Given the description of an element on the screen output the (x, y) to click on. 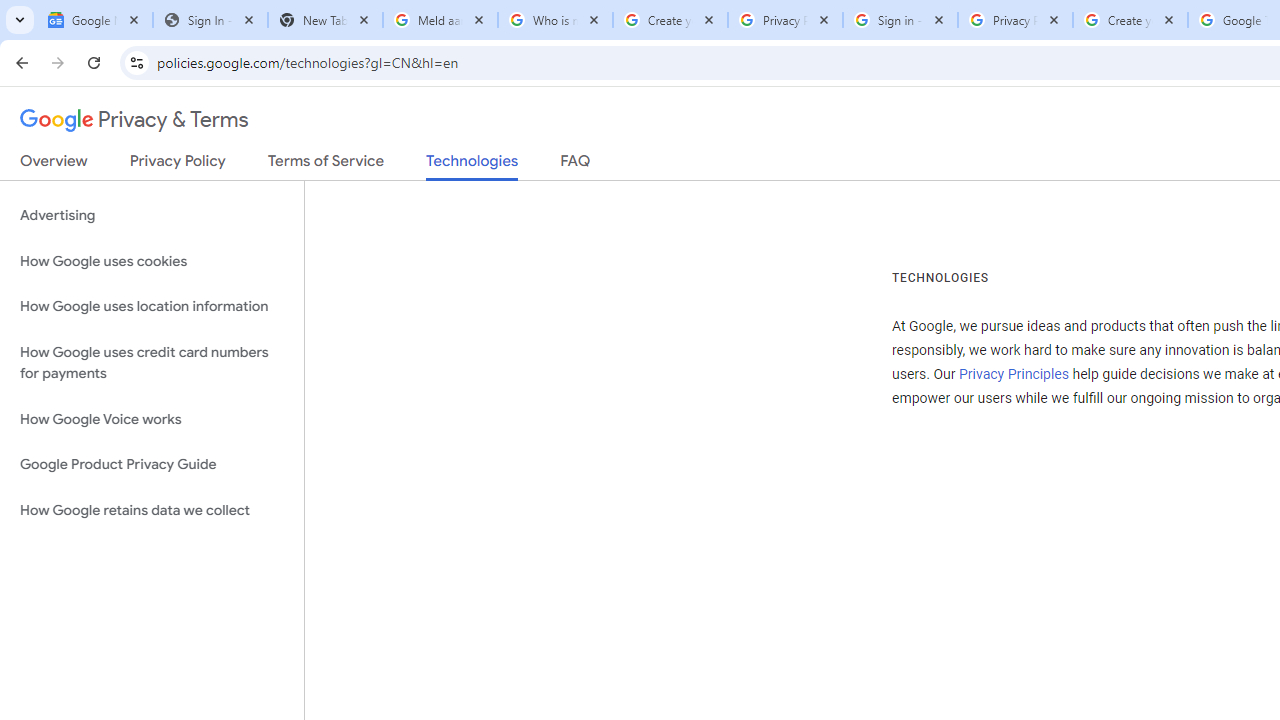
New Tab (324, 20)
How Google uses cookies (152, 261)
Who is my administrator? - Google Account Help (555, 20)
How Google Voice works (152, 419)
Privacy Policy (177, 165)
How Google uses credit card numbers for payments (152, 362)
Privacy Principles (1013, 374)
Technologies (472, 166)
How Google uses location information (152, 306)
Terms of Service (326, 165)
Google News (95, 20)
Google Product Privacy Guide (152, 465)
